Given the description of an element on the screen output the (x, y) to click on. 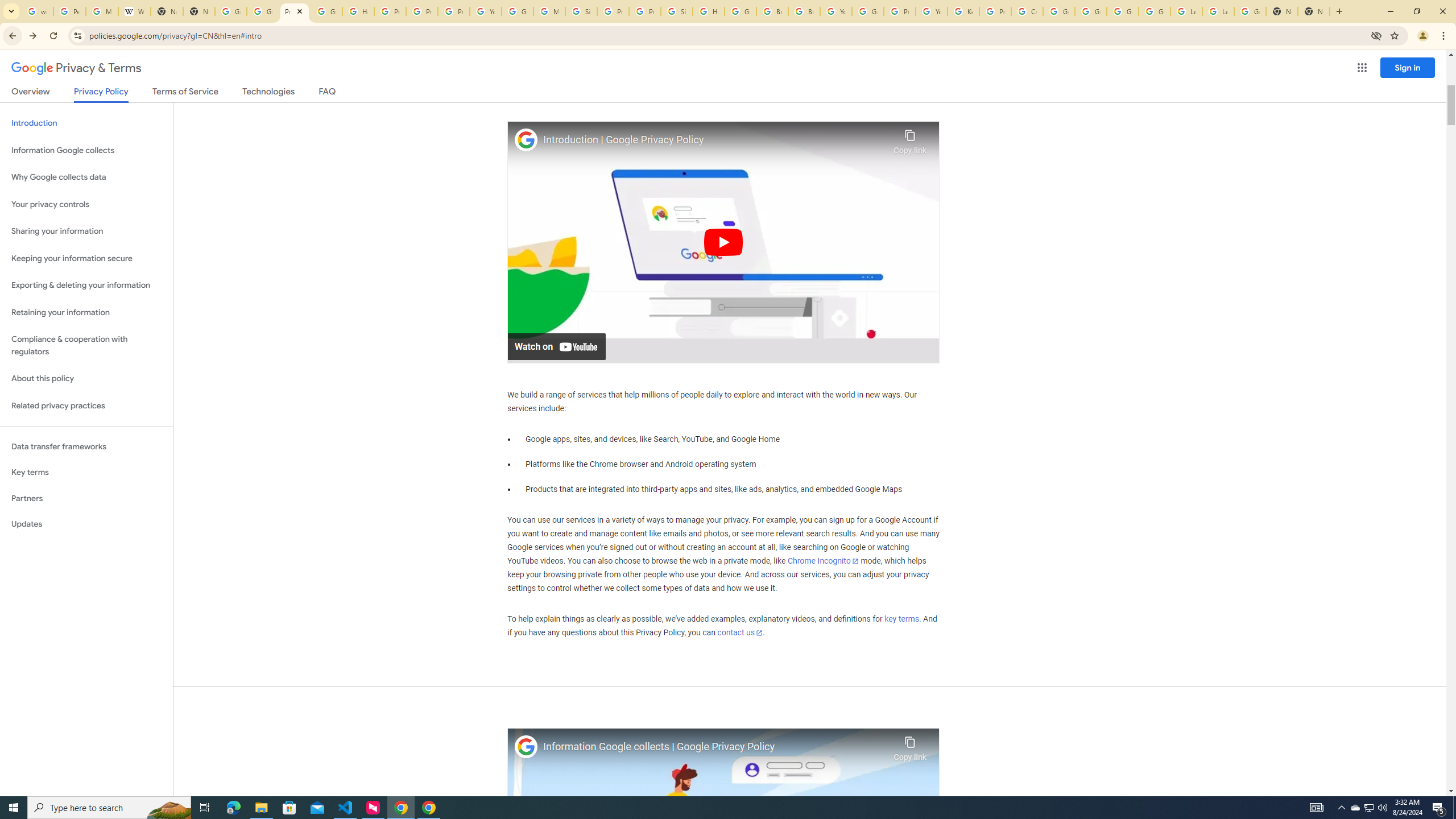
Overview (30, 93)
Watch on YouTube (556, 346)
Retaining your information (86, 312)
Information Google collects | Google Privacy Policy (715, 747)
Keeping your information secure (86, 258)
Google Account Help (868, 11)
Google Account Help (517, 11)
Chrome Incognito (823, 561)
